Given the description of an element on the screen output the (x, y) to click on. 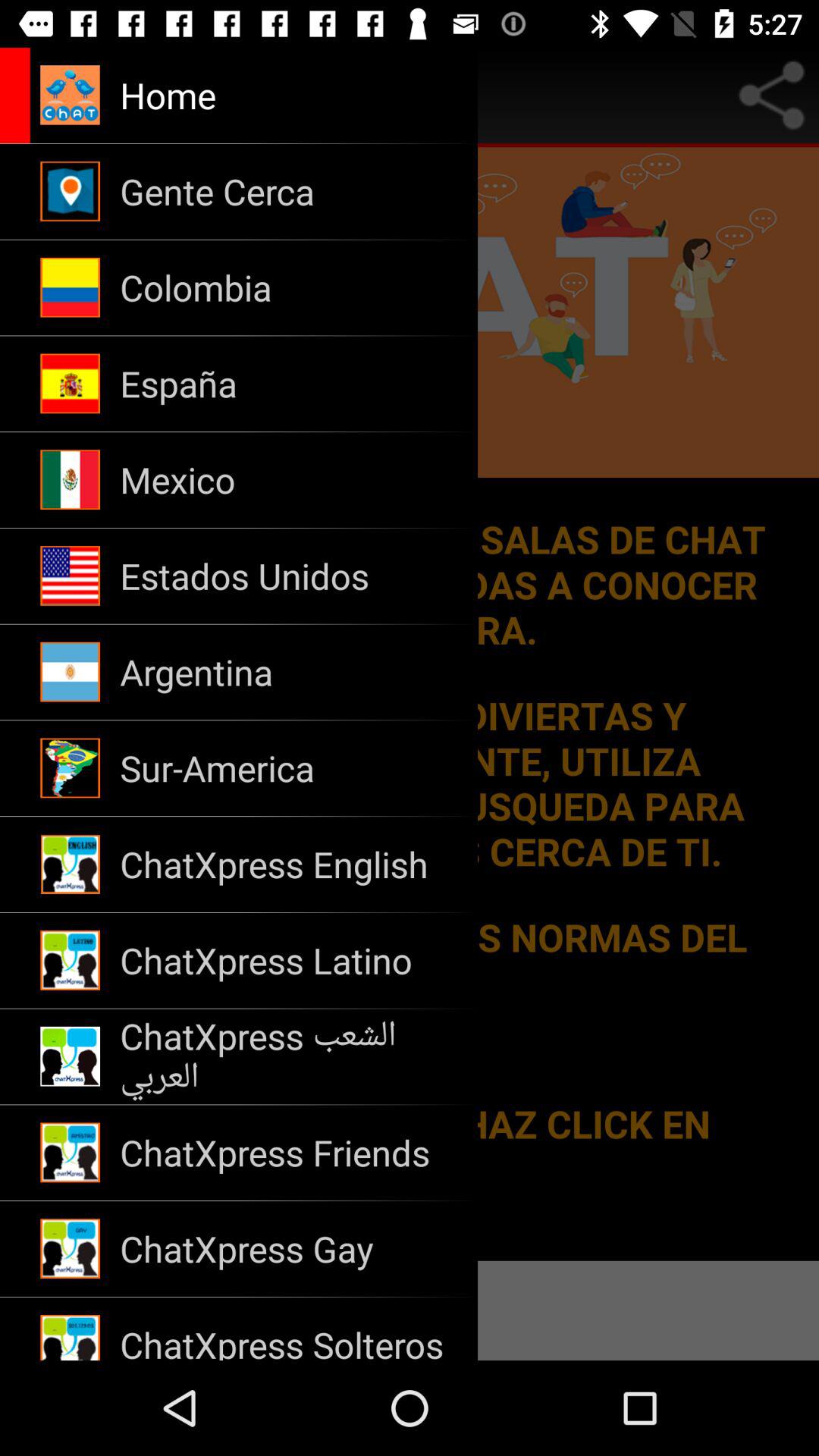
turn on icon to the right of home icon (771, 95)
